Given the description of an element on the screen output the (x, y) to click on. 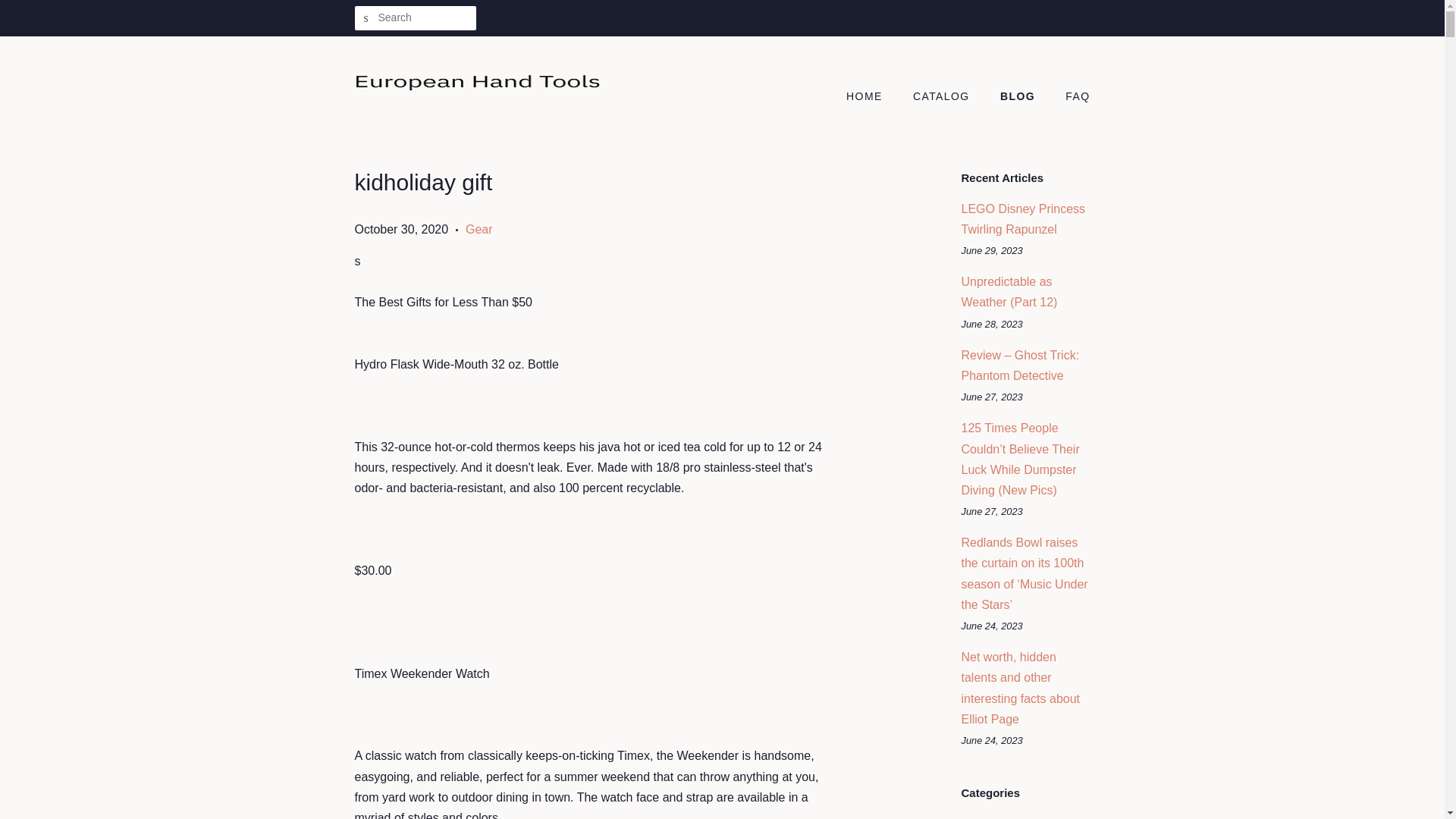
BLOG (1018, 96)
CATALOG (943, 96)
002 (970, 818)
LEGO Disney Princess Twirling Rapunzel (1023, 218)
FAQ (1071, 96)
SEARCH (366, 18)
Show articles tagged 002 (970, 818)
Gear (479, 228)
HOME (871, 96)
